Given the description of an element on the screen output the (x, y) to click on. 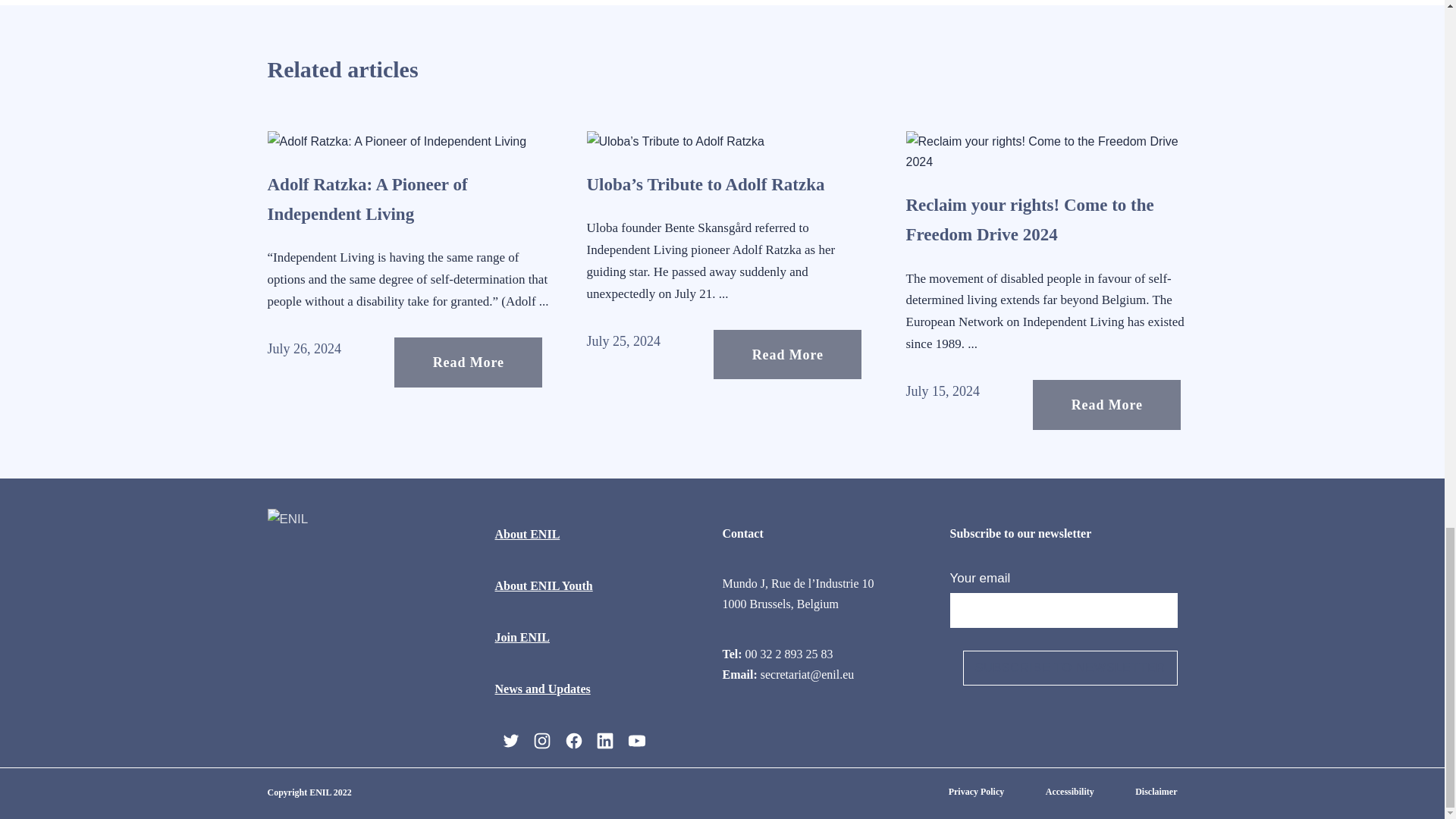
Subscribe to newsletter (1069, 667)
